Given the description of an element on the screen output the (x, y) to click on. 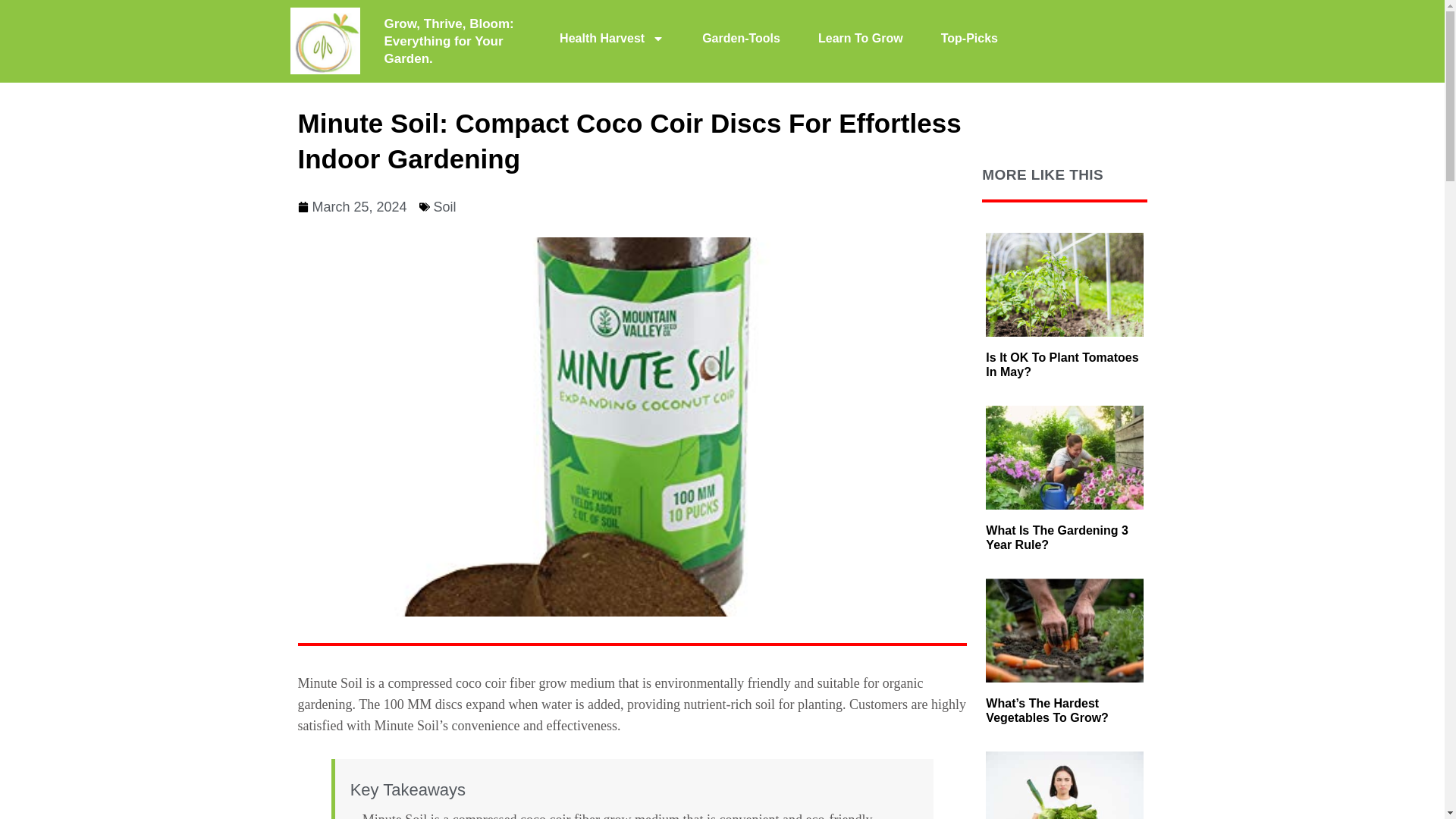
Top-Picks (968, 38)
Garden-Tools (740, 38)
Health Harvest (611, 38)
Grow, Thrive, Bloom: Everything for Your Garden. (448, 41)
Learn To Grow (860, 38)
